Given the description of an element on the screen output the (x, y) to click on. 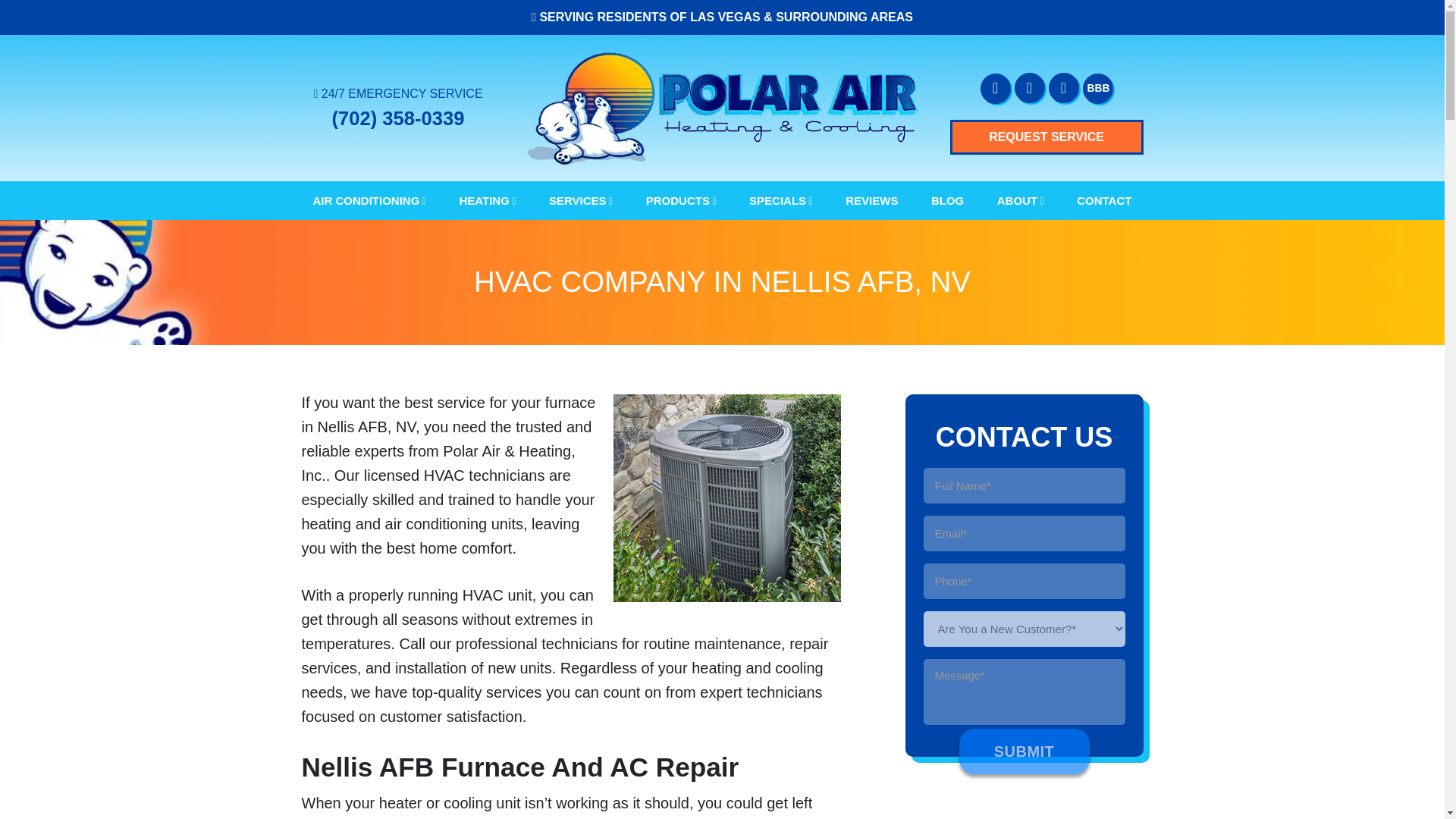
HEATING (486, 200)
PRODUCTS (681, 200)
AIR CONDITIONING (369, 200)
SERVICES (580, 200)
BBB (1098, 88)
Submit (1023, 750)
REQUEST SERVICE (1045, 136)
SPECIALS (781, 200)
